Given the description of an element on the screen output the (x, y) to click on. 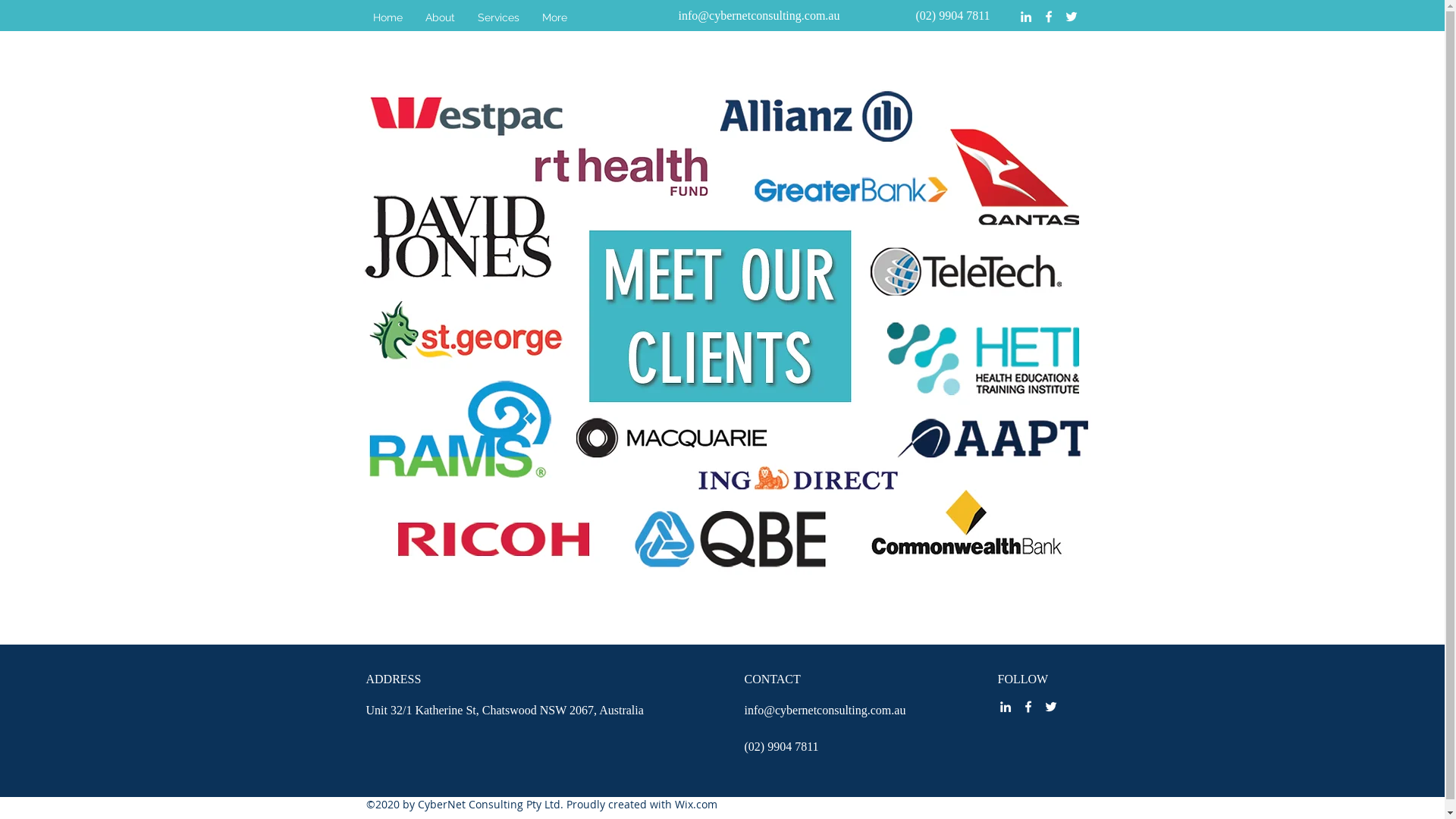
Home Element type: text (386, 17)
info@cybernetconsulting.com.au Element type: text (759, 15)
About Element type: text (440, 17)
Services Element type: text (497, 17)
info@cybernetconsulting.com.au Element type: text (825, 709)
